Given the description of an element on the screen output the (x, y) to click on. 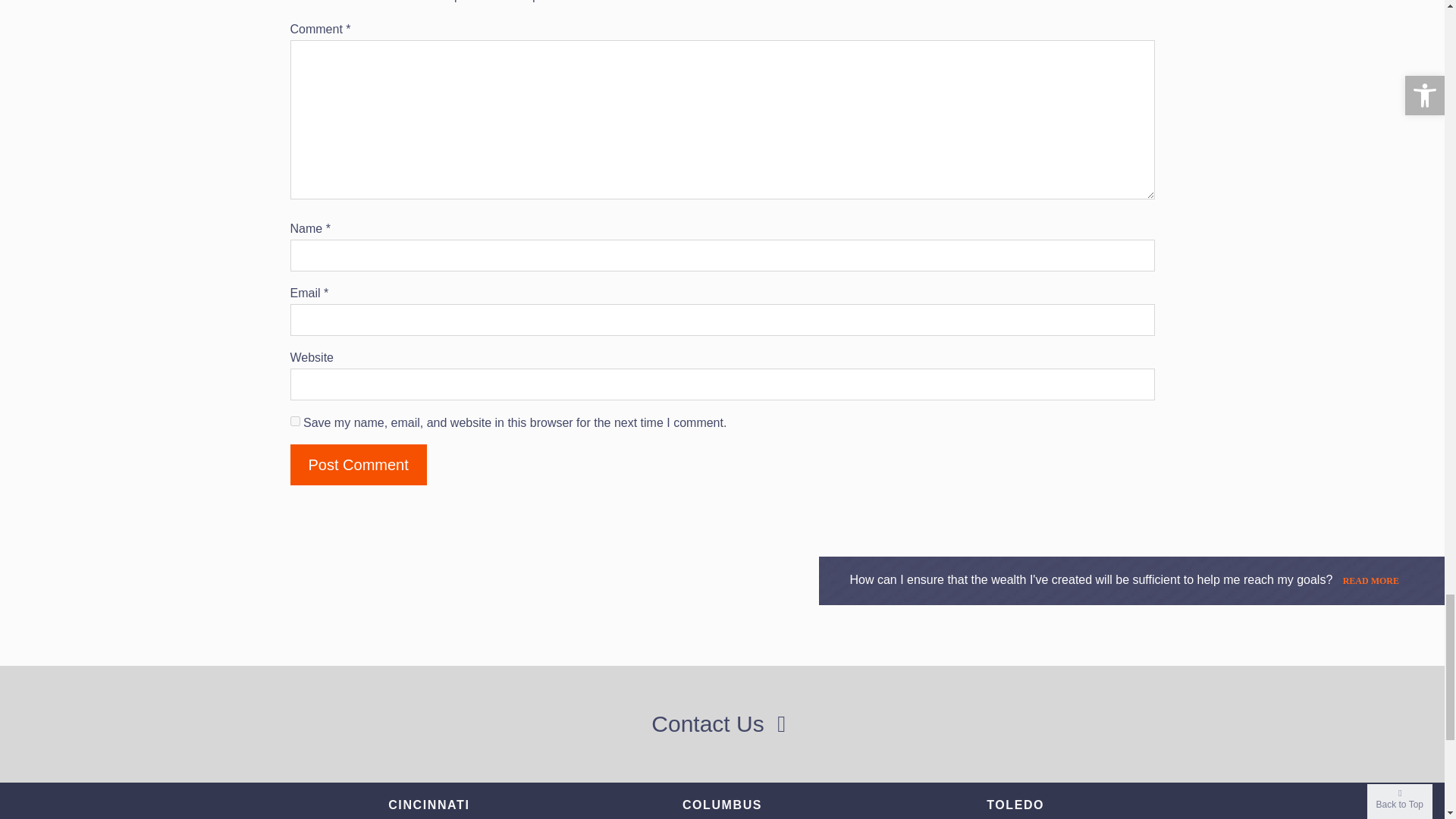
yes (294, 420)
Post Comment (357, 464)
